Given the description of an element on the screen output the (x, y) to click on. 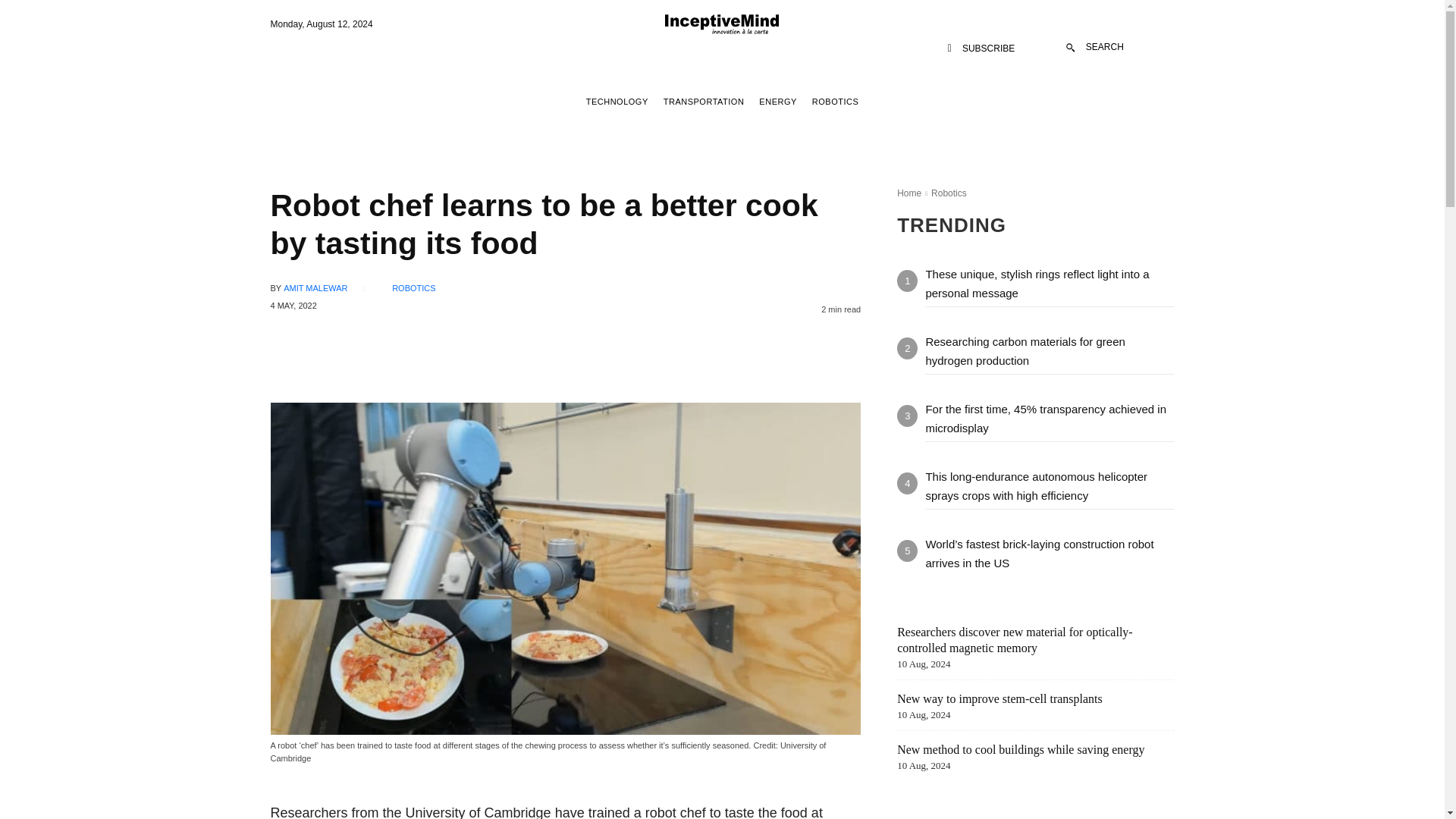
TRANSPORTATION (703, 101)
SUBSCRIBE (980, 48)
Researching carbon materials for green hydrogen production (1024, 350)
SUBSCRIBE (980, 48)
TECHNOLOGY (617, 101)
ROBOTICS (834, 101)
View all posts in Robotics (948, 193)
